Given the description of an element on the screen output the (x, y) to click on. 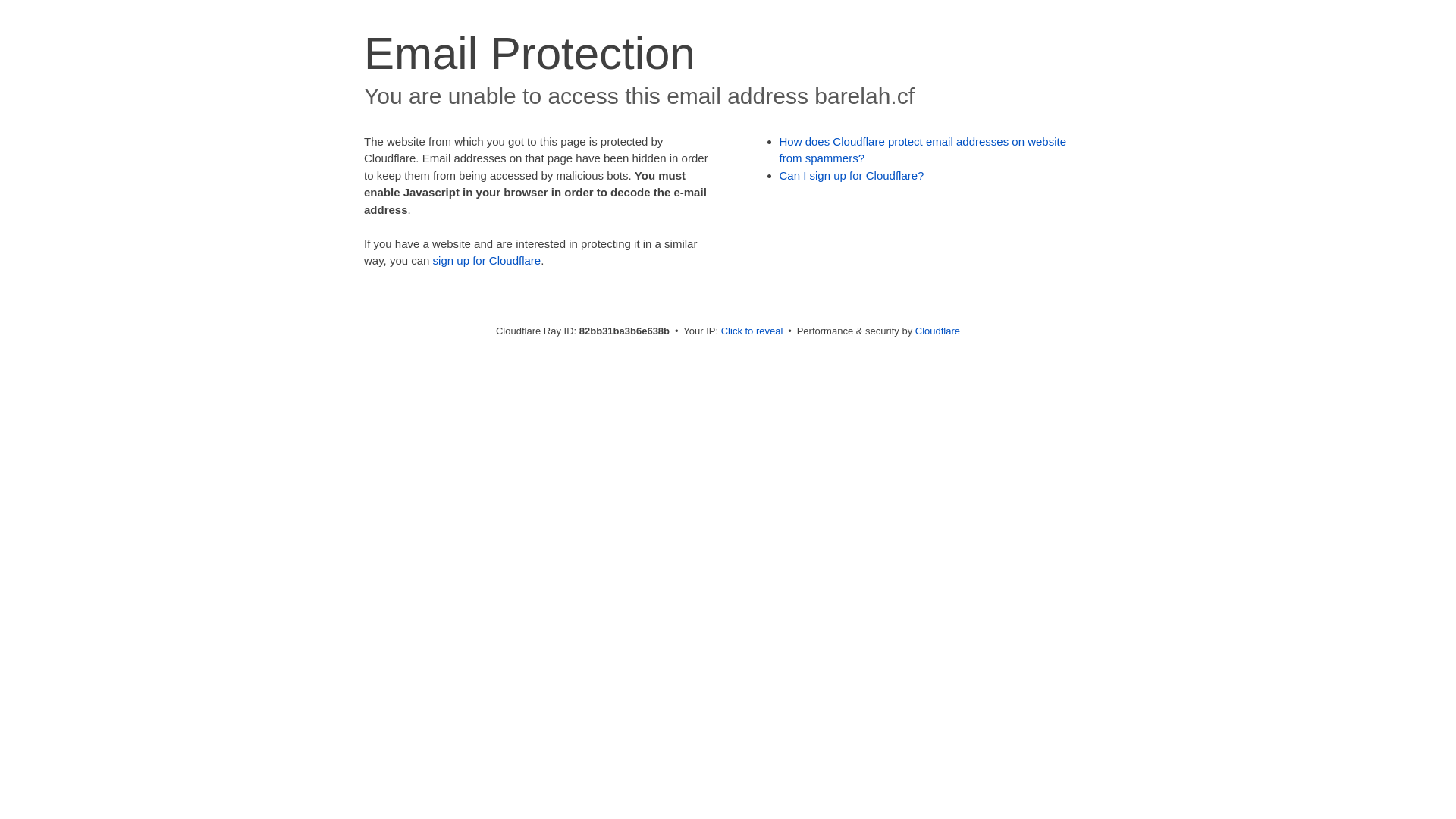
Can I sign up for Cloudflare? Element type: text (851, 175)
sign up for Cloudflare Element type: text (487, 260)
Click to reveal Element type: text (752, 330)
Cloudflare Element type: text (937, 330)
